Given the description of an element on the screen output the (x, y) to click on. 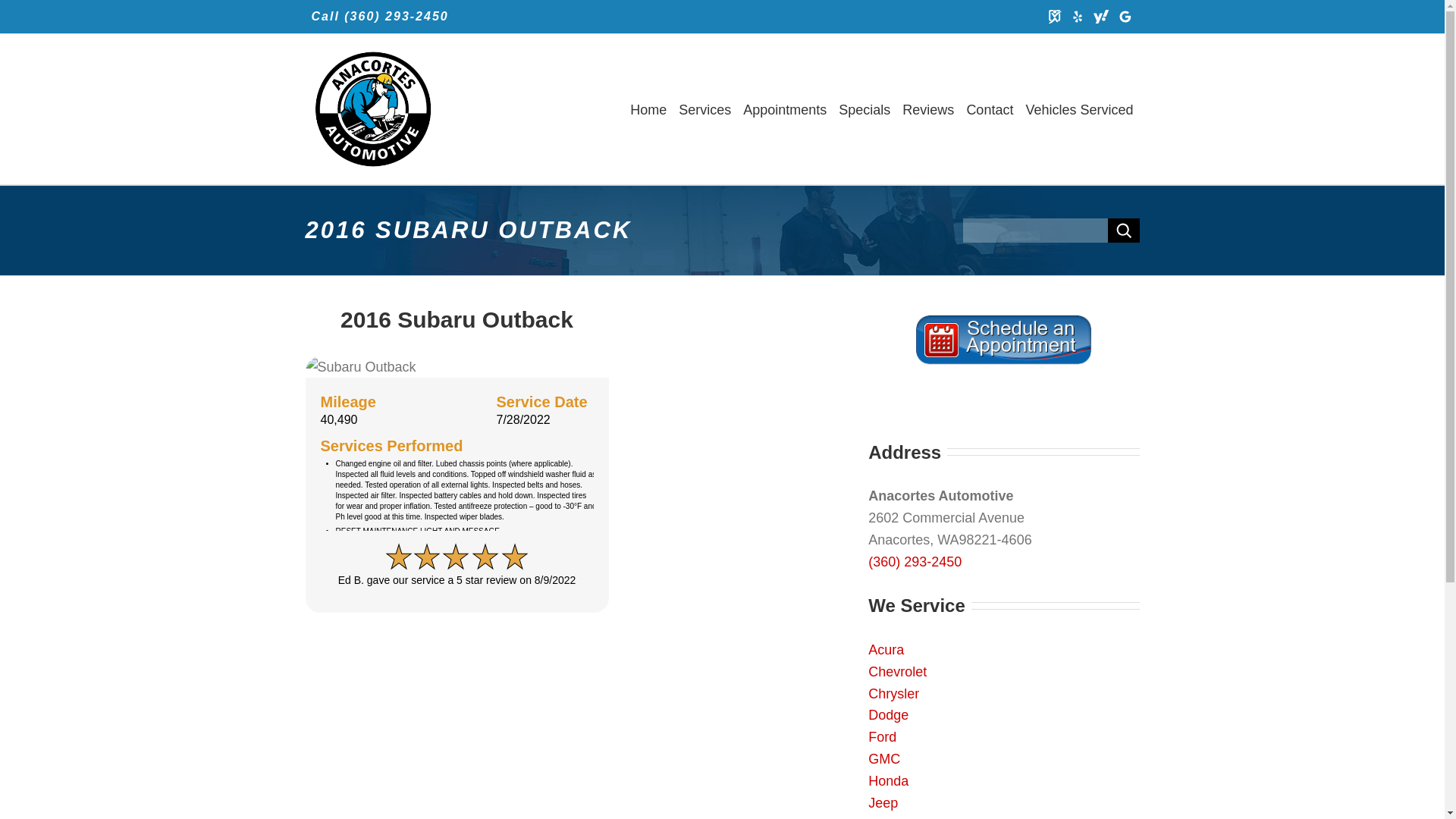
Yelp (1077, 16)
SureCritic (1054, 16)
Yahoo (1100, 16)
